Given the description of an element on the screen output the (x, y) to click on. 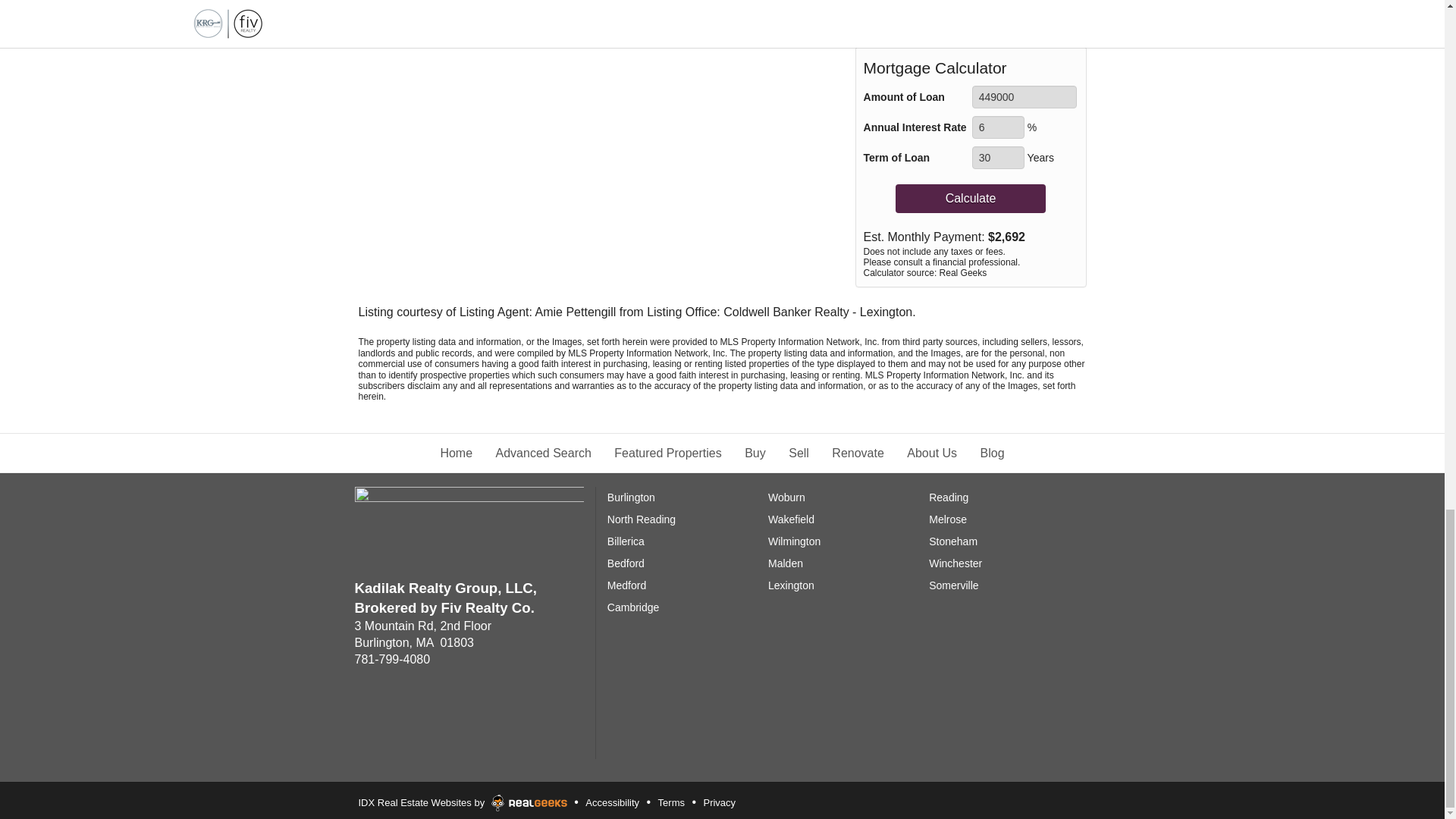
30 (998, 157)
6 (998, 127)
449000 (1024, 96)
